Given the description of an element on the screen output the (x, y) to click on. 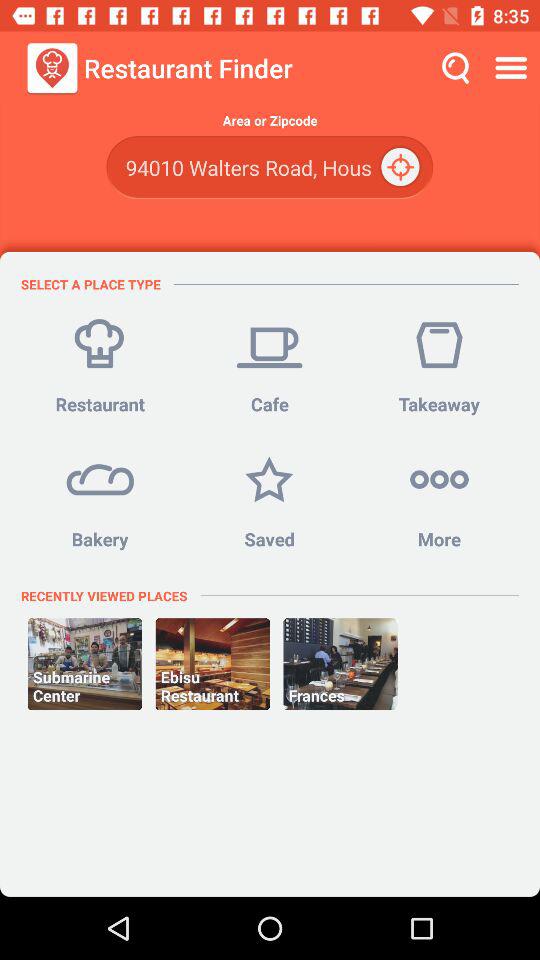
turn off the item below area or zipcode (269, 167)
